Given the description of an element on the screen output the (x, y) to click on. 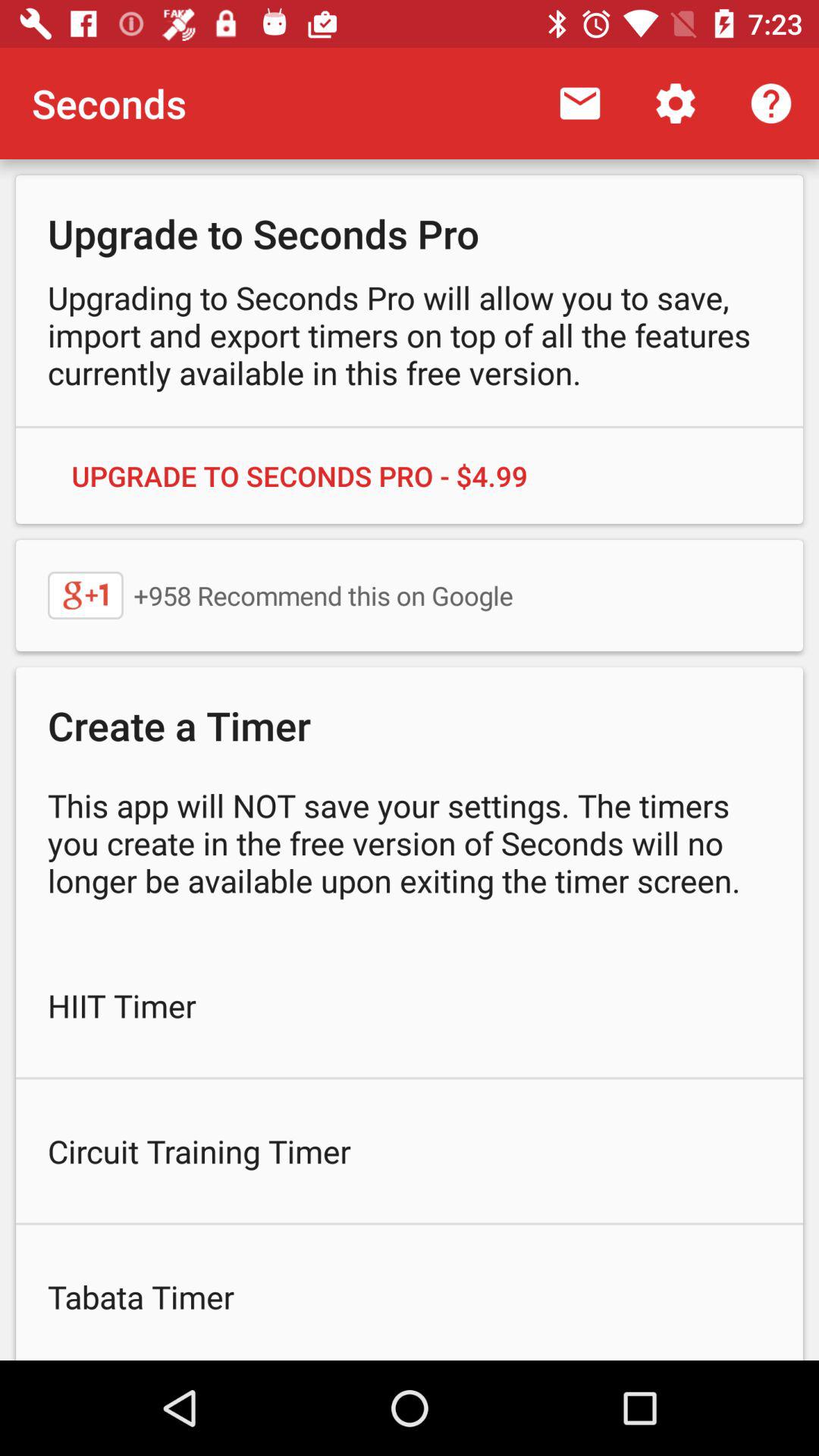
press item above upgrade to seconds (579, 103)
